Given the description of an element on the screen output the (x, y) to click on. 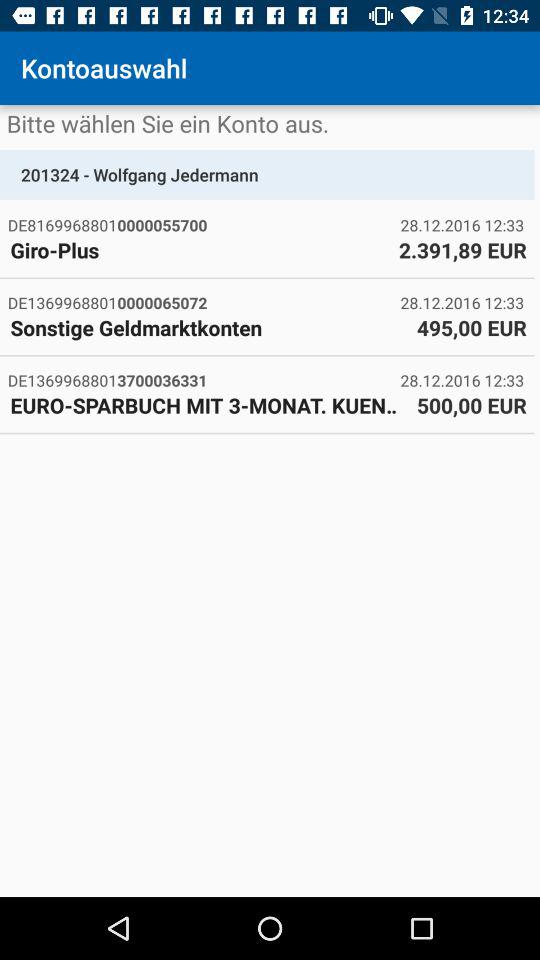
press the icon to the left of the 495,00 eur item (208, 327)
